Given the description of an element on the screen output the (x, y) to click on. 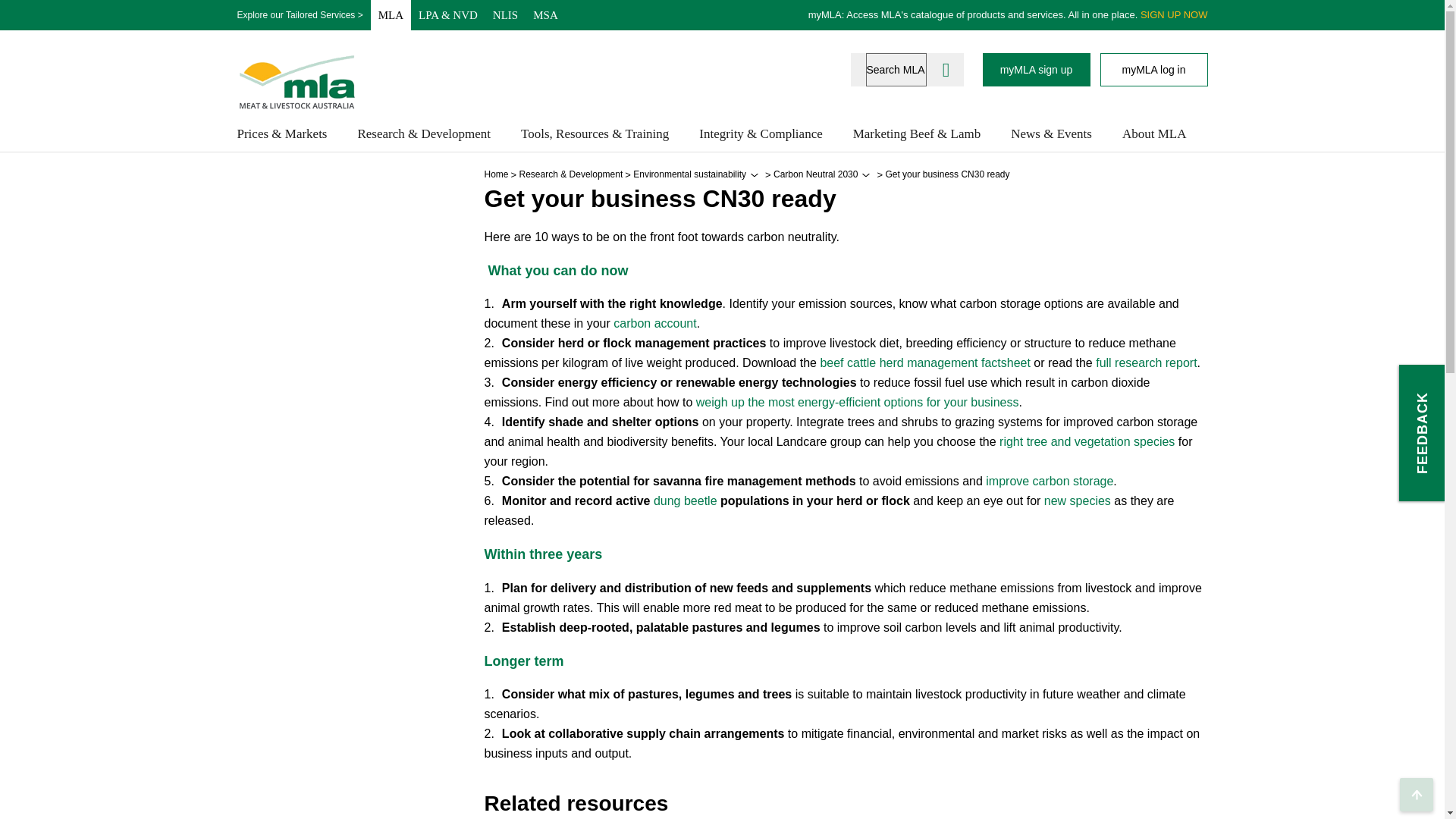
MSA (545, 15)
MLA (390, 15)
NLIS (504, 15)
myMLA log in (1153, 69)
NLIS (504, 15)
myMLA sign up (1036, 69)
Skip to Navigation (22, 16)
SIGN UP NOW (1174, 14)
Search MLA (896, 69)
MSA (545, 15)
MLA (390, 15)
SIGN UP NOW (1174, 14)
